Given the description of an element on the screen output the (x, y) to click on. 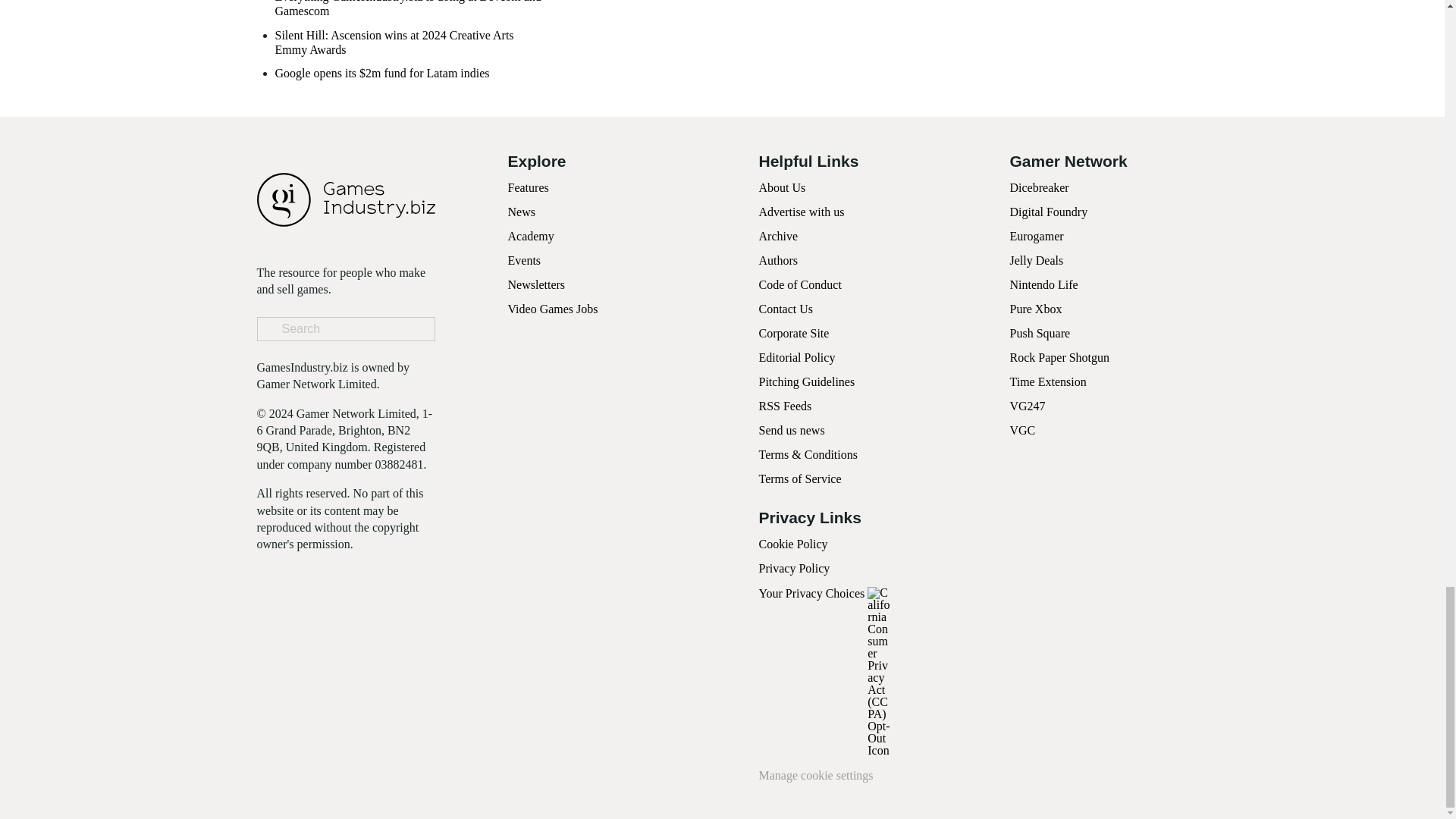
About Us (781, 187)
Archive (777, 236)
Advertise with us (801, 211)
Newsletters (537, 284)
Video Games Jobs (553, 308)
Everything GamesIndustry.biz is doing at Devcom and Gamescom (409, 9)
Events (524, 259)
News (521, 211)
Academy (531, 236)
